Given the description of an element on the screen output the (x, y) to click on. 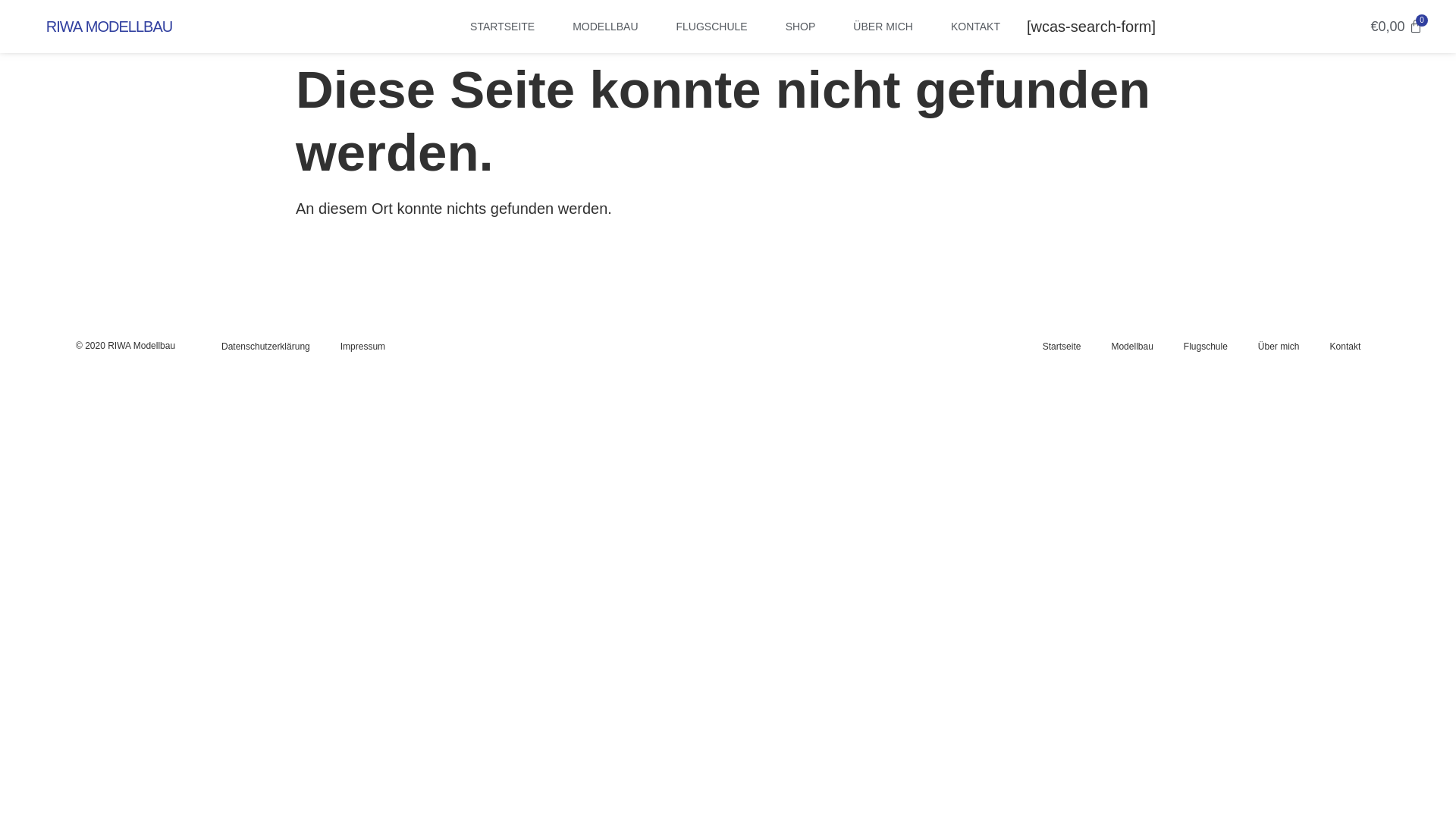
RIWA MODELLBAU Element type: text (109, 26)
MODELLBAU Element type: text (604, 26)
Startseite Element type: text (1061, 346)
STARTSEITE Element type: text (502, 26)
Kontakt Element type: text (1345, 346)
FLUGSCHULE Element type: text (711, 26)
KONTAKT Element type: text (975, 26)
Flugschule Element type: text (1205, 346)
Modellbau Element type: text (1131, 346)
Impressum Element type: text (362, 346)
SHOP Element type: text (800, 26)
